Given the description of an element on the screen output the (x, y) to click on. 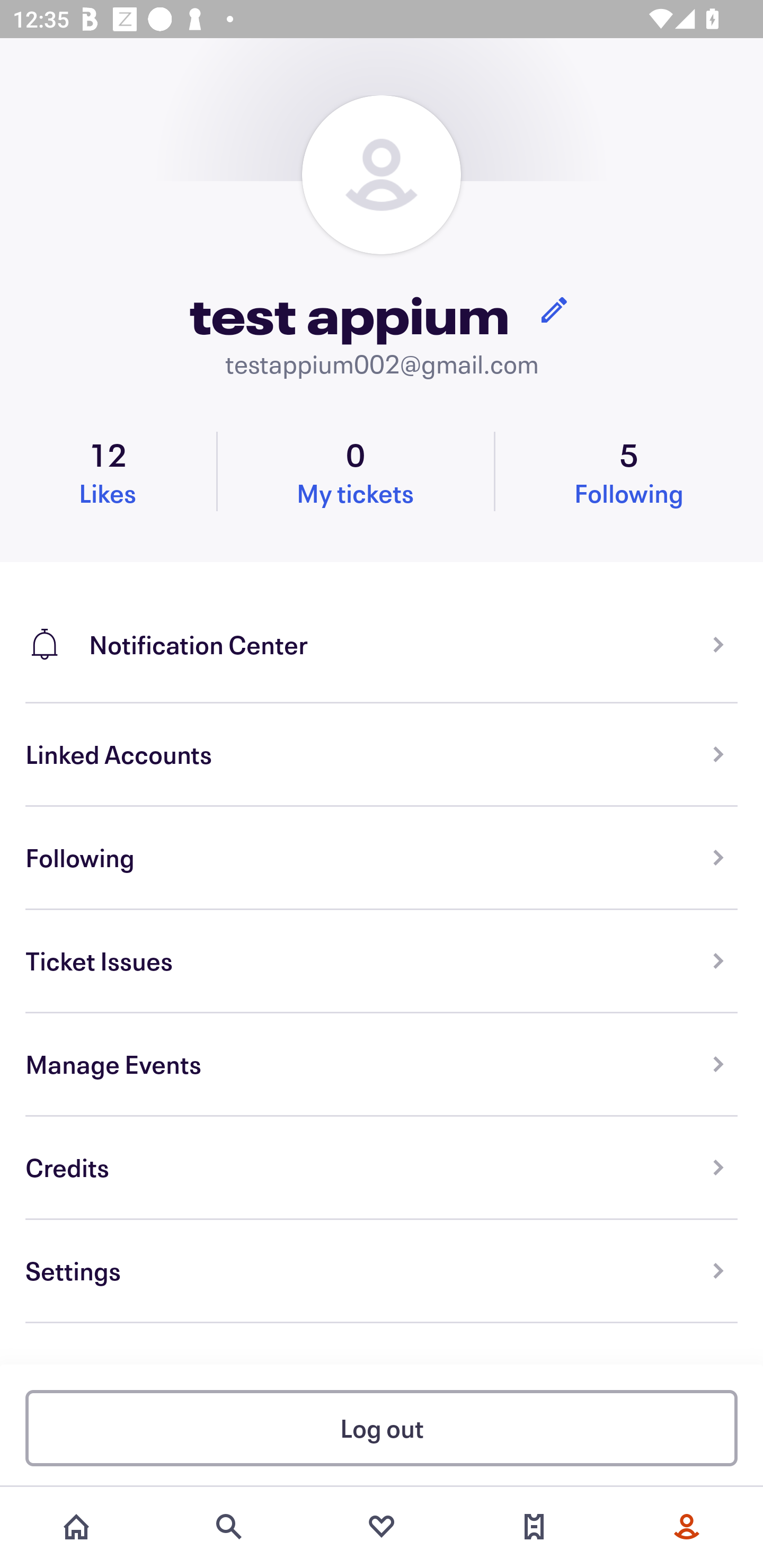
test appium testappium002@gmail.com (381, 238)
12 Likes (107, 470)
0 My tickets (355, 470)
5 Following (629, 470)
Notification Center (381, 632)
Linked Accounts (381, 755)
Following (381, 858)
Ticket Issues (381, 960)
Manage Events (381, 1064)
Credits (381, 1167)
Settings (381, 1271)
Log out (381, 1427)
Home (76, 1526)
Search events (228, 1526)
Favorites (381, 1526)
Tickets (533, 1526)
More (686, 1526)
